Given the description of an element on the screen output the (x, y) to click on. 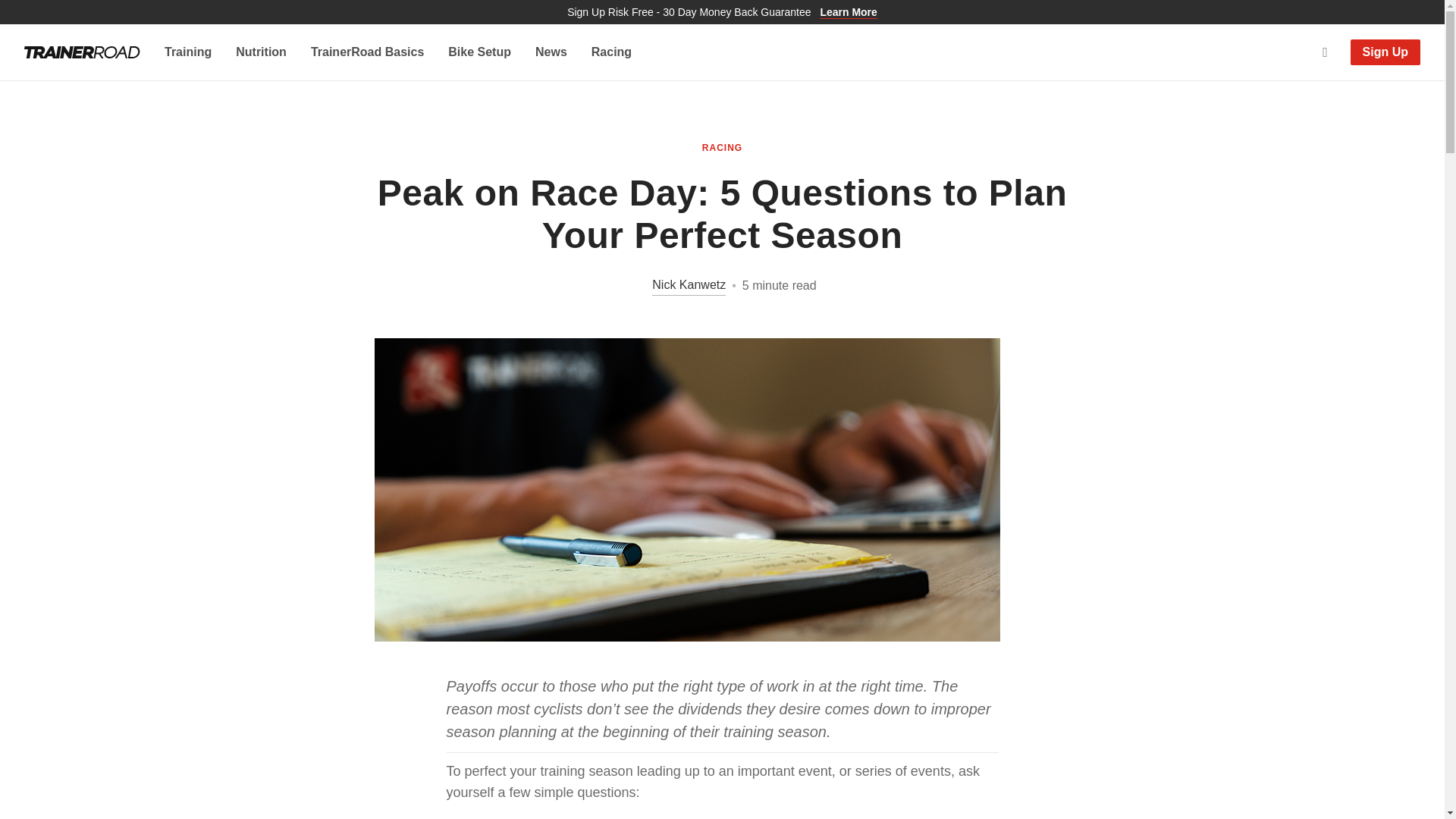
Nick Kanwetz (676, 285)
Nutrition (260, 51)
TrainerRoad Basics (367, 51)
Racing (611, 51)
Training (187, 51)
News (551, 51)
RACING (721, 147)
Sign Up (1386, 52)
TrainerRoad Training Blog (81, 51)
Bike Setup (479, 51)
